Given the description of an element on the screen output the (x, y) to click on. 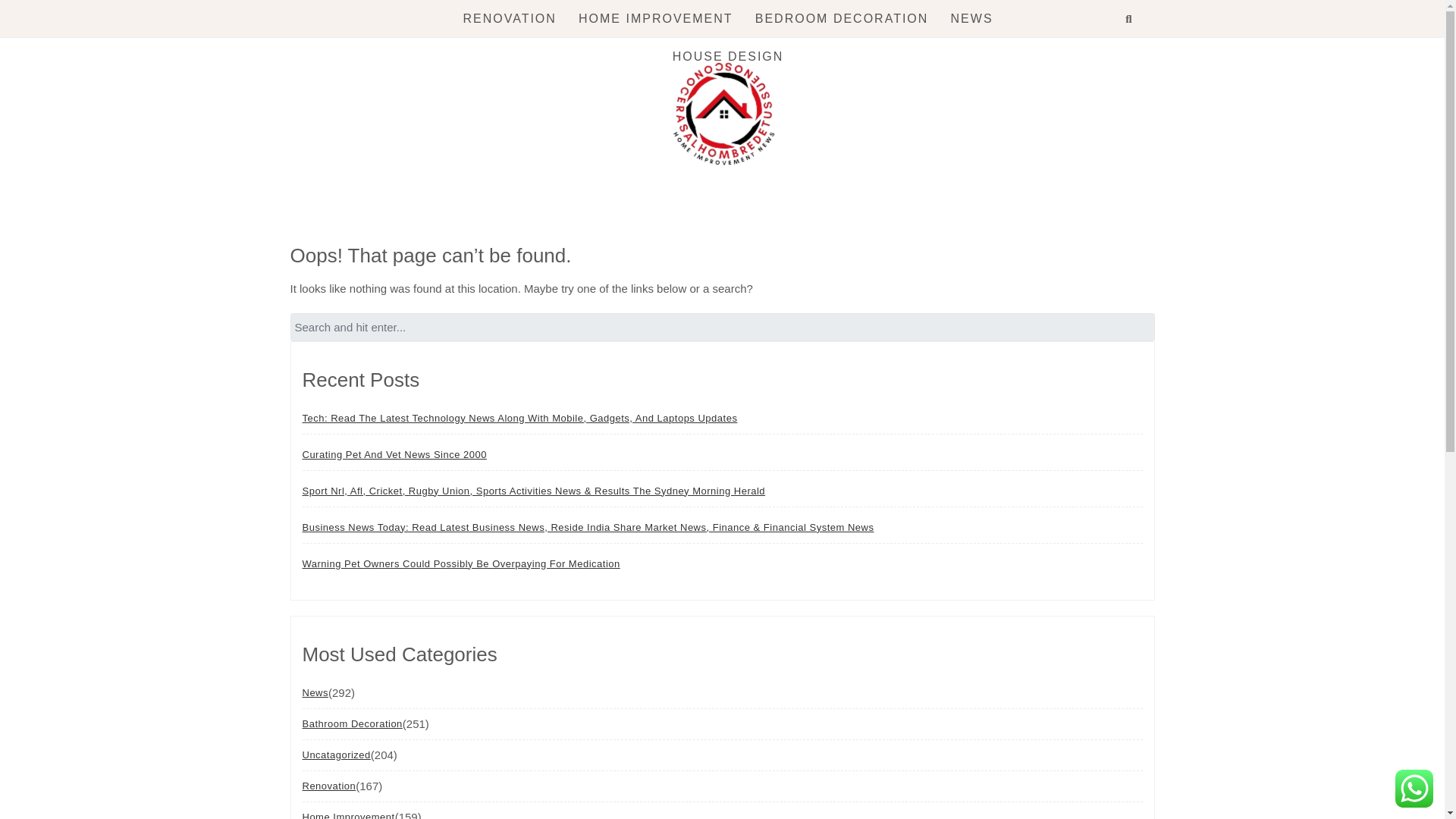
Home Improvement (347, 810)
RENOVATION (509, 18)
Curating Pet And Vet News Since 2000 (393, 454)
BEDROOM DECORATION (841, 18)
Uncatagorized (335, 755)
CHD (358, 218)
HOME IMPROVEMENT (655, 18)
NEWS (971, 18)
Renovation (328, 785)
Bathroom Decoration (351, 723)
HOUSE DESIGN (728, 56)
